Given the description of an element on the screen output the (x, y) to click on. 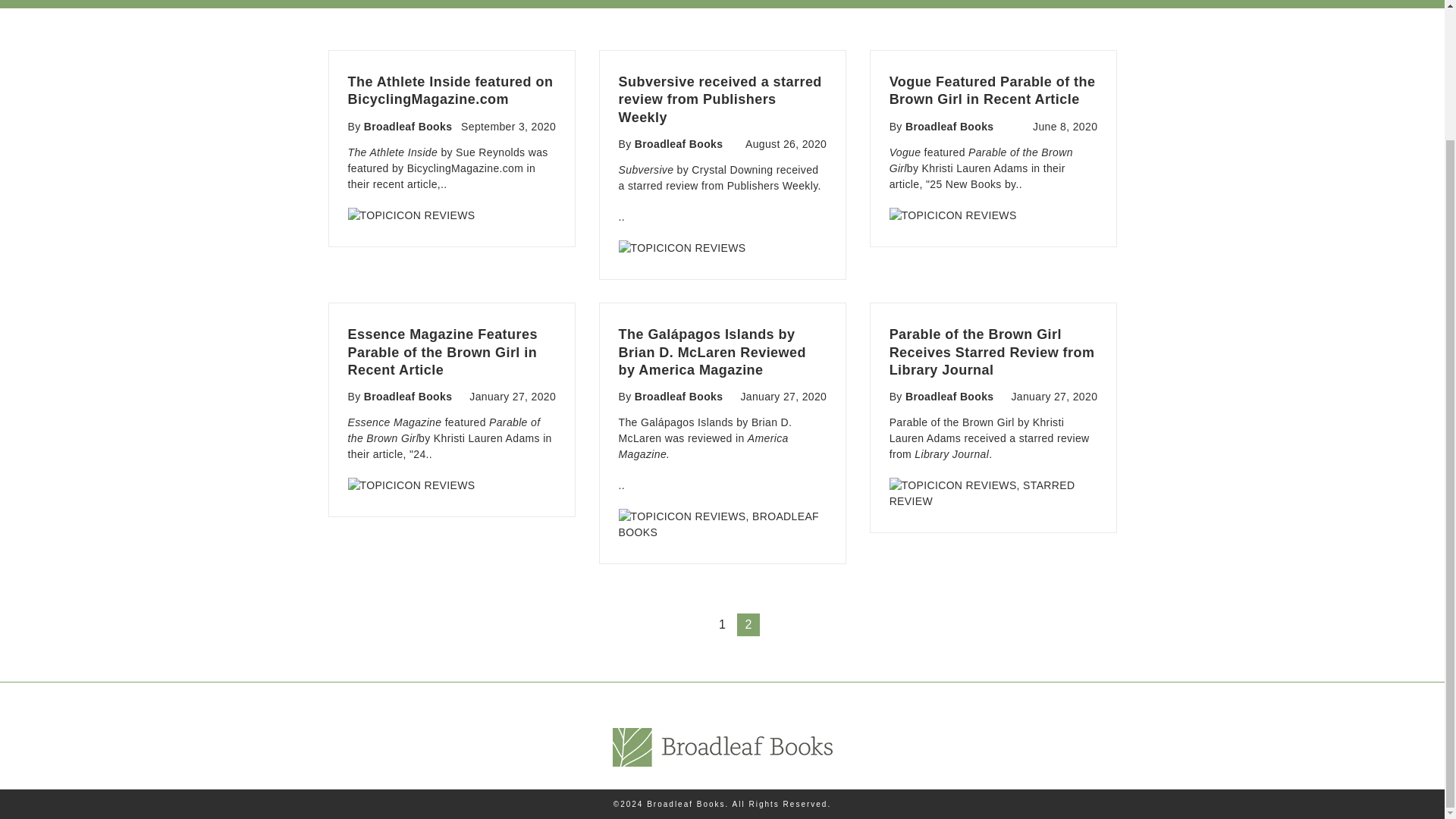
"24.. (420, 453)
Subversive (646, 169)
REVIEWS (720, 516)
STARRED REVIEW (982, 492)
.. (621, 216)
REVIEWS (448, 215)
Vogue Featured Parable of the Brown Girl in Recent Article (992, 90)
Broadleaf Books (408, 126)
.. (621, 485)
Broadleaf Books (949, 126)
Broadleaf Books (408, 396)
REVIEWS (991, 485)
Broadleaf Books (678, 396)
Parable of the Brown Girl (443, 430)
